Given the description of an element on the screen output the (x, y) to click on. 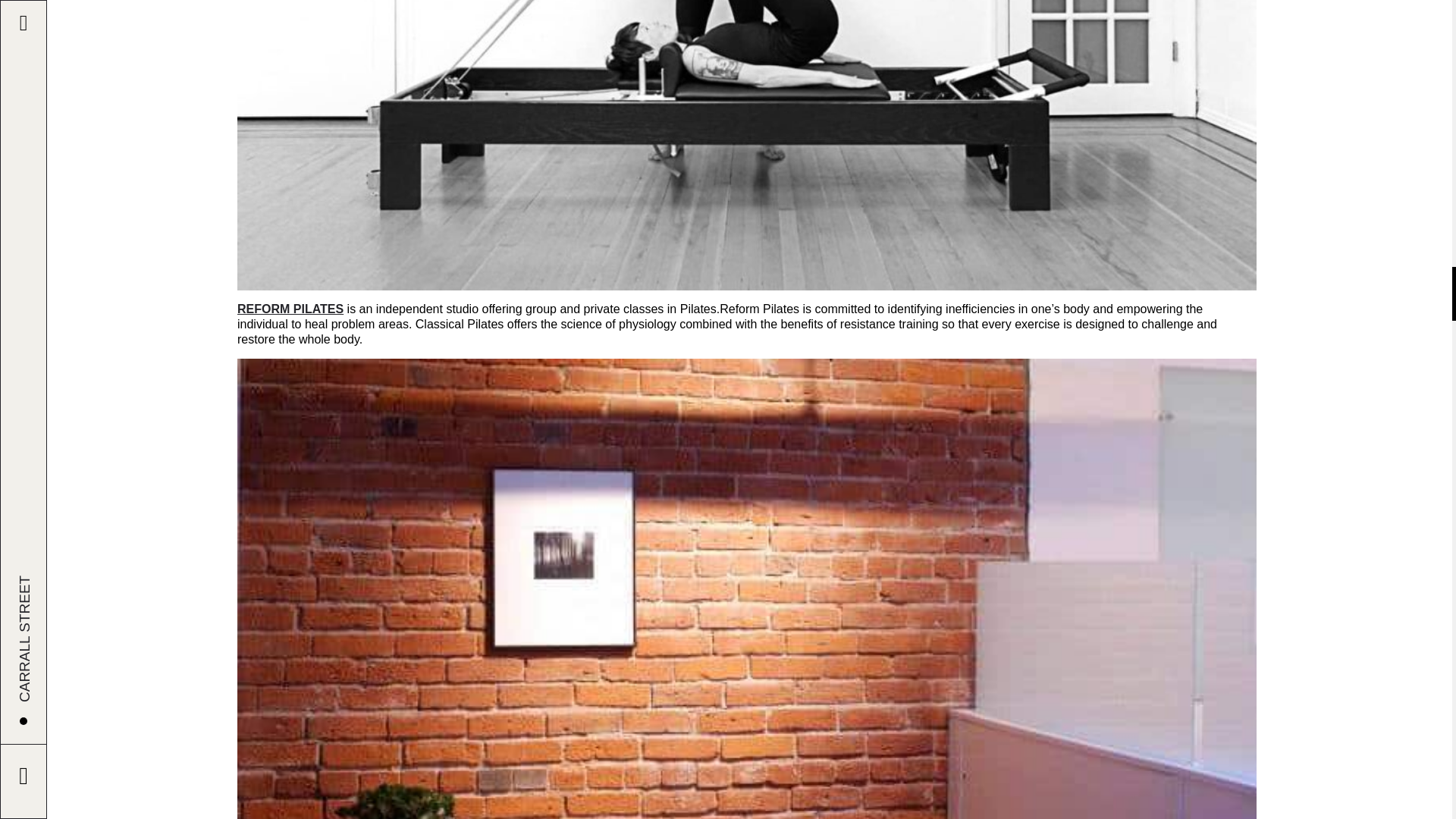
REFORM PILATES (290, 308)
